Given the description of an element on the screen output the (x, y) to click on. 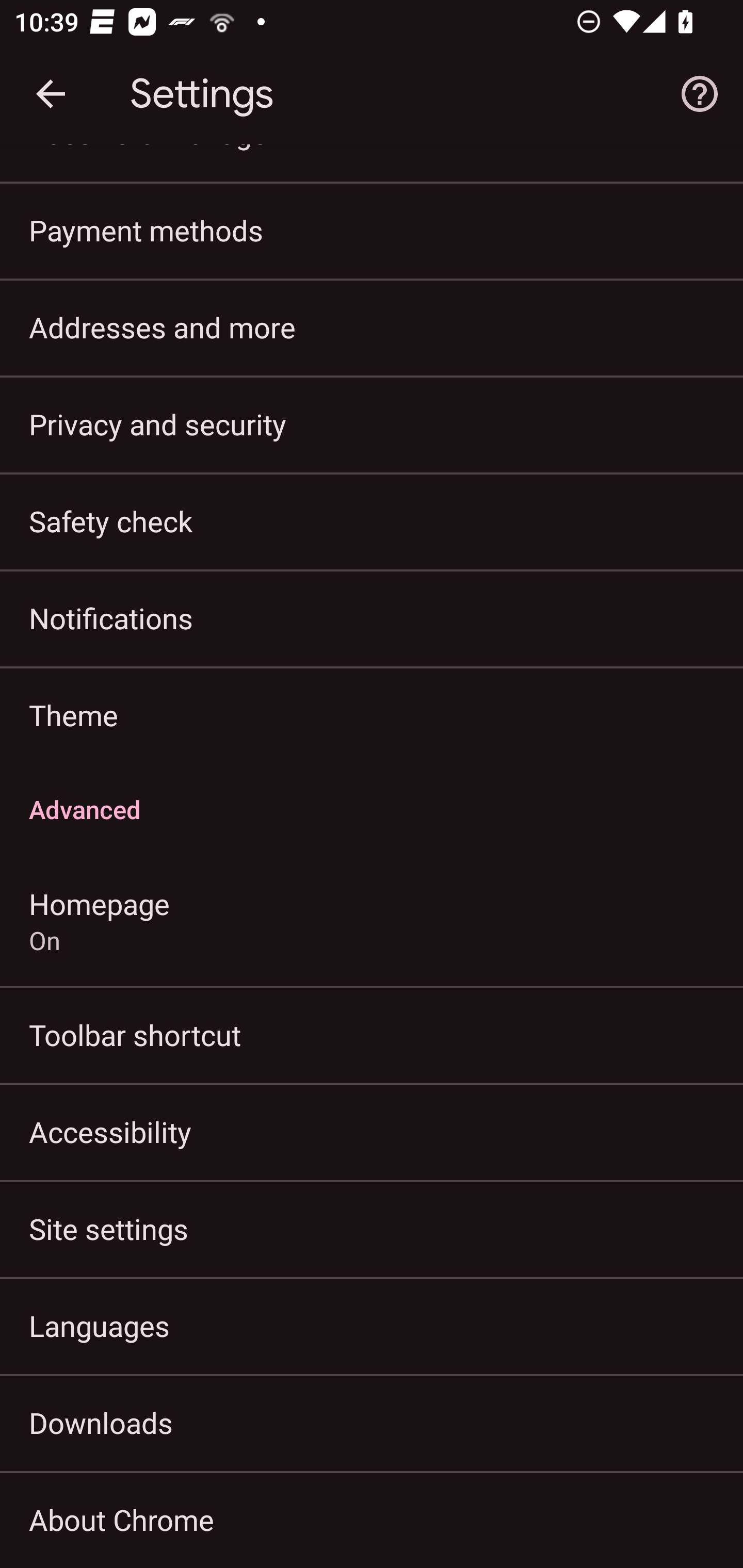
Navigate up (50, 93)
Help & feedback (699, 93)
Payment methods (371, 230)
Addresses and more (371, 326)
Privacy and security (371, 422)
Safety check (371, 520)
Notifications (371, 617)
Theme (371, 714)
Homepage On (371, 920)
Toolbar shortcut (371, 1034)
Accessibility (371, 1131)
Site settings (371, 1228)
Languages (371, 1324)
Downloads (371, 1421)
About Chrome (371, 1519)
